Given the description of an element on the screen output the (x, y) to click on. 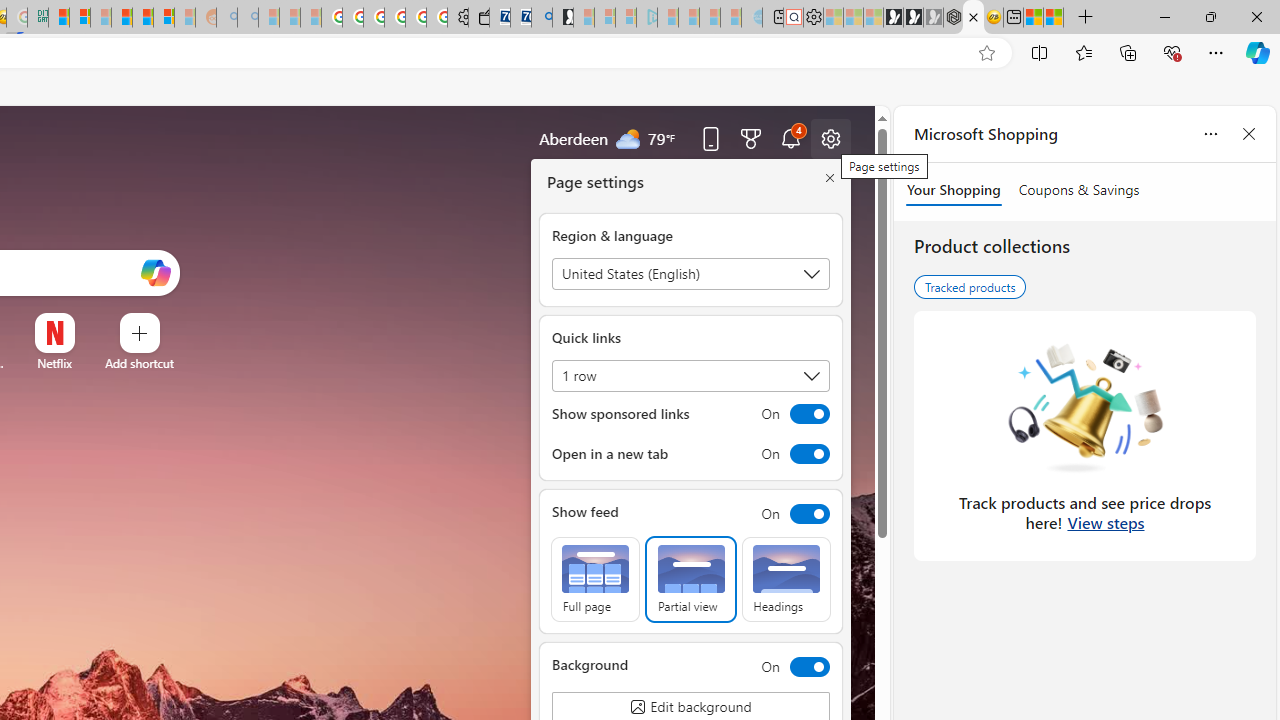
Partial view (690, 579)
On (790, 666)
Class: select-setting-fluent-select  (690, 375)
Kinda Frugal - MSN (143, 17)
Expert Portfolios (121, 17)
